Given the description of an element on the screen output the (x, y) to click on. 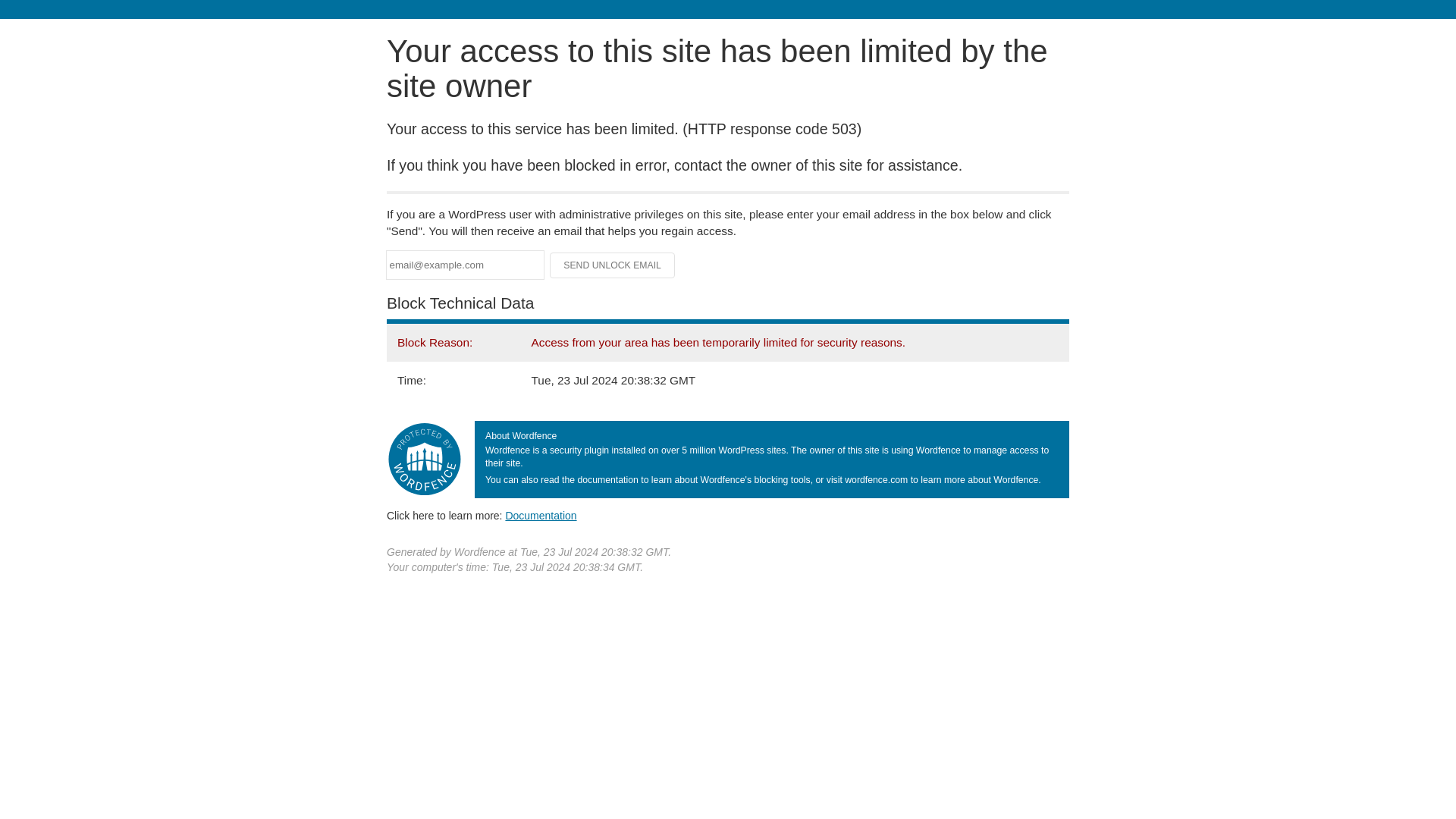
Documentation (540, 515)
Send Unlock Email (612, 265)
Send Unlock Email (612, 265)
